Given the description of an element on the screen output the (x, y) to click on. 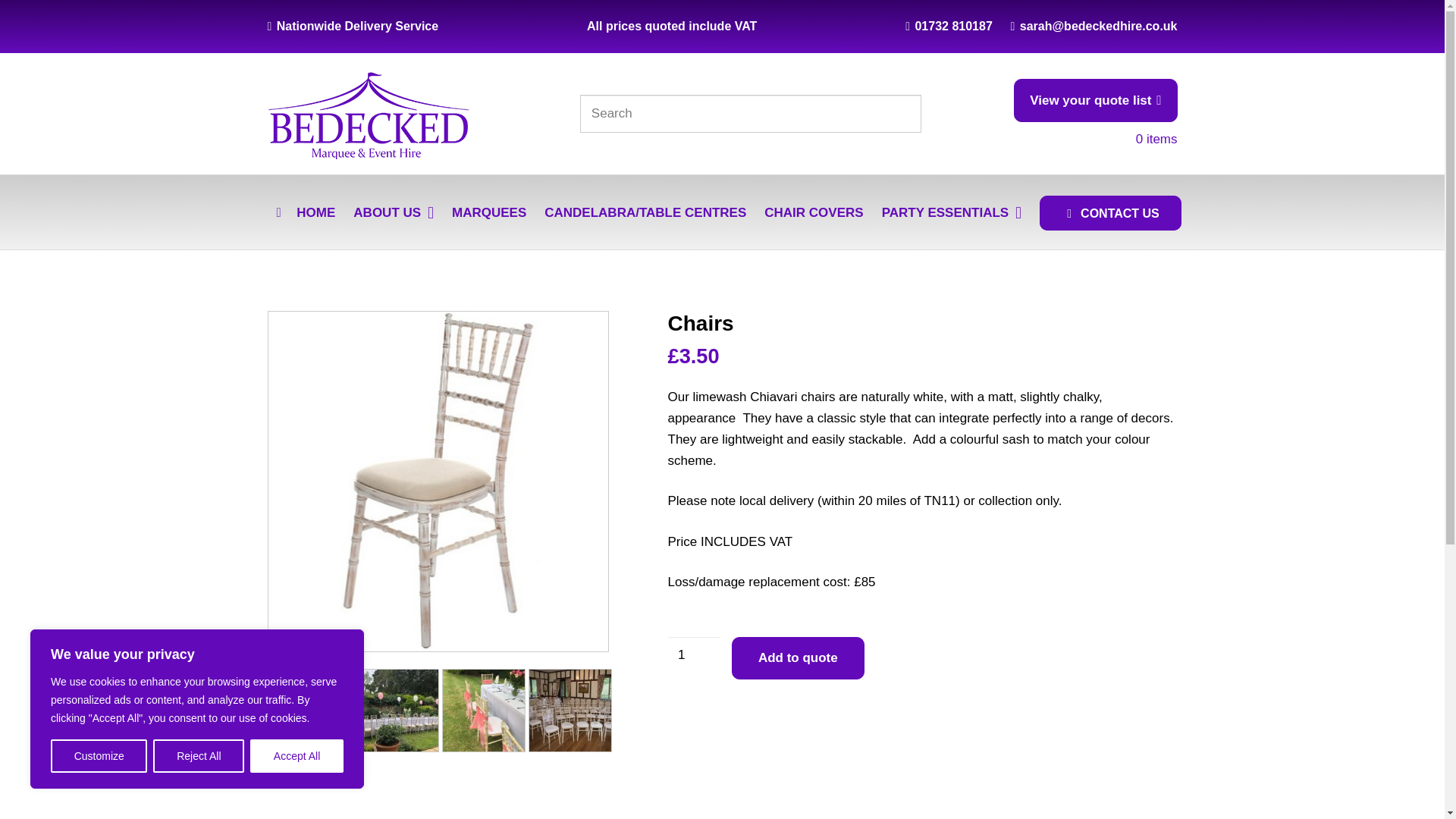
PARTY ESSENTIALS (951, 212)
1 (693, 655)
HOME (304, 212)
Nationwide Delivery Service (352, 25)
ABOUT US (392, 212)
Chavari Chair - Limewash and White (437, 481)
0 items (1156, 138)
MARQUEES (488, 212)
Accept All (296, 756)
01732 810187 (948, 25)
CHAIR COVERS (813, 212)
View your quote list (1094, 99)
Customize (98, 756)
Reject All (198, 756)
